Given the description of an element on the screen output the (x, y) to click on. 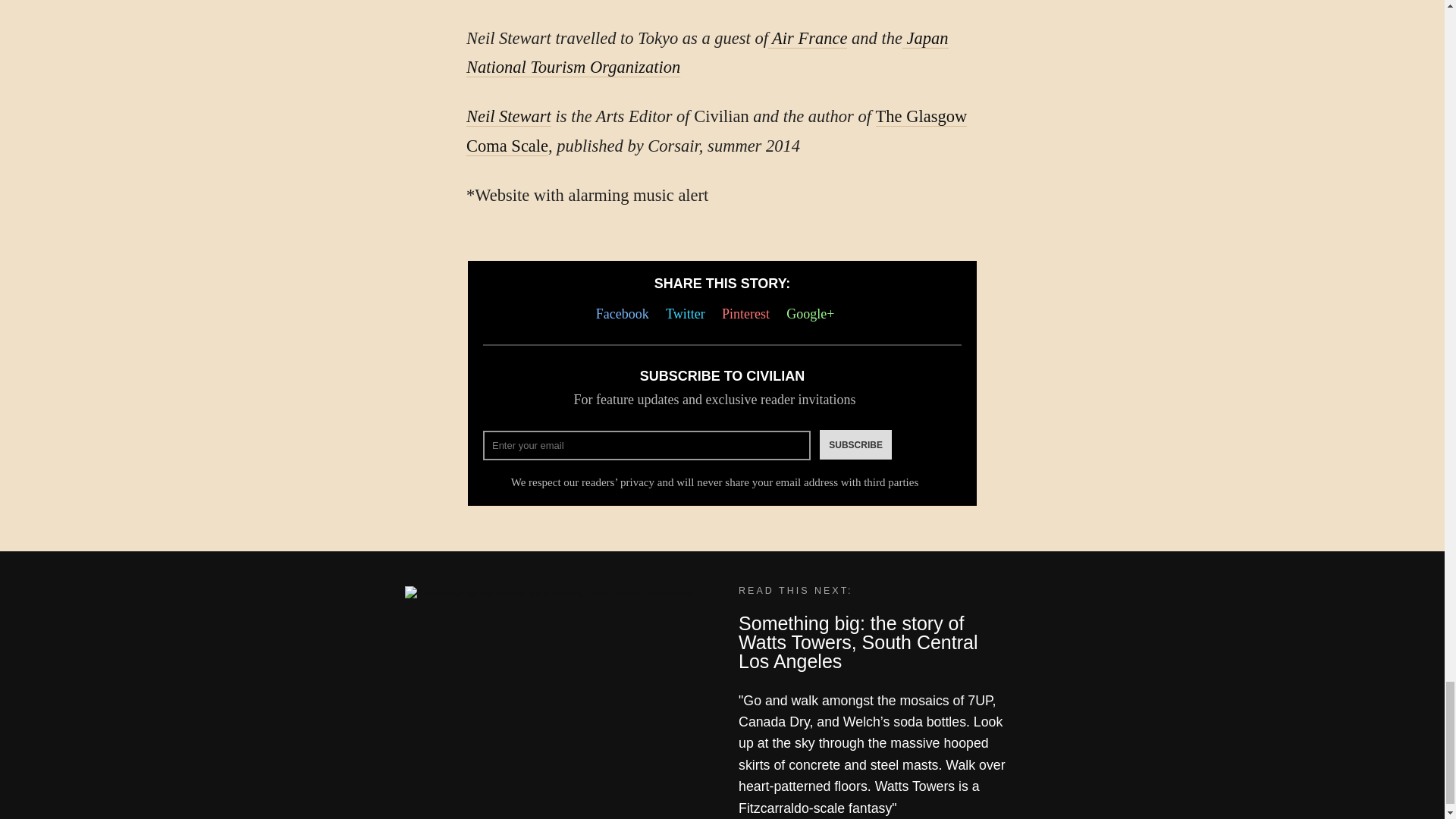
Neil Stewart (508, 116)
Facebook (625, 313)
Share on Facebook (625, 313)
Japan National Tourism Organization (707, 52)
The Glasgow Coma Scale (715, 131)
Share this story on Pinterest (749, 313)
Subscribe (855, 444)
Air France (807, 38)
Subscribe (855, 444)
Twitter (689, 313)
